Given the description of an element on the screen output the (x, y) to click on. 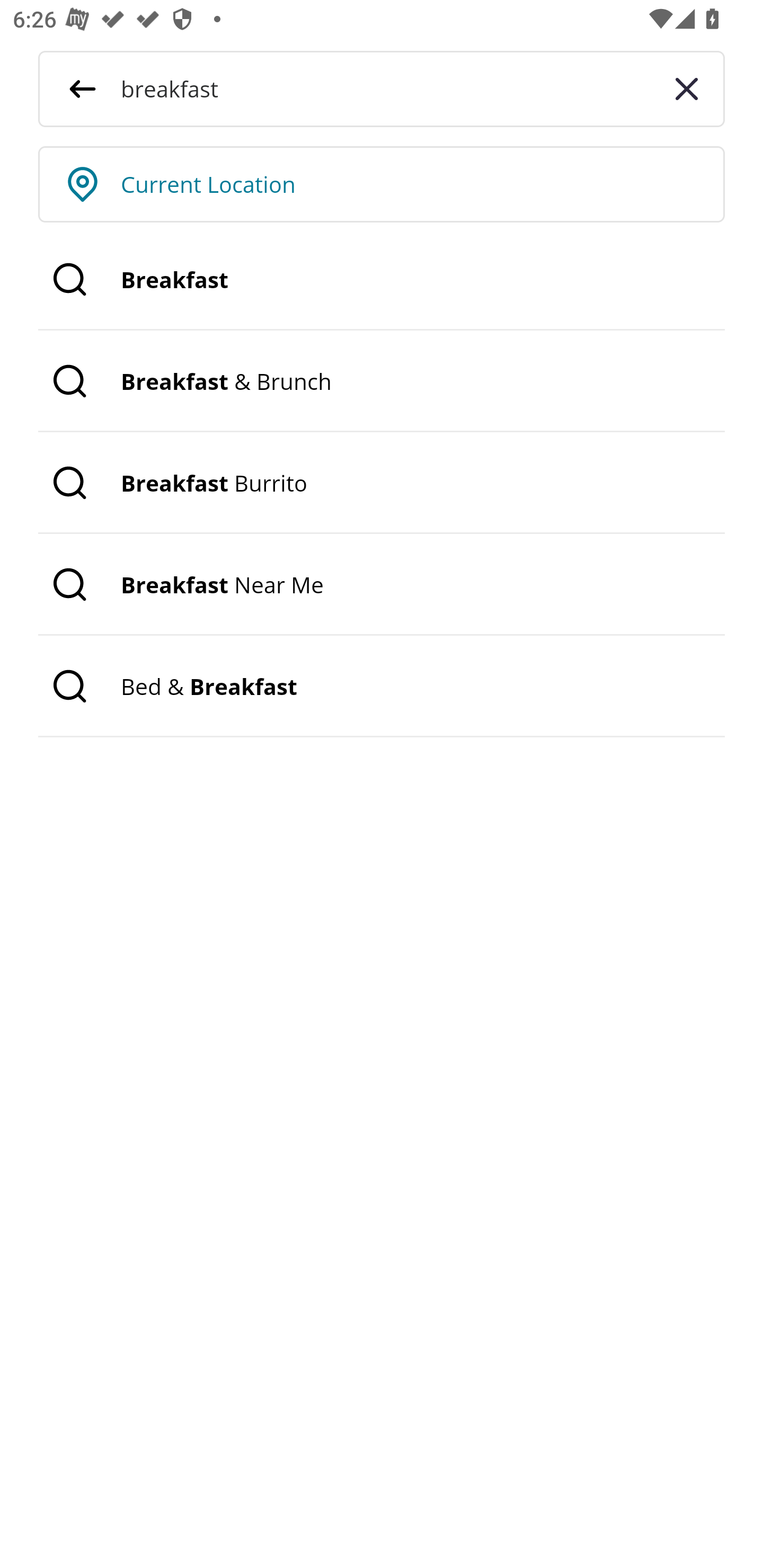
Breakfast (381, 279)
